Given the description of an element on the screen output the (x, y) to click on. 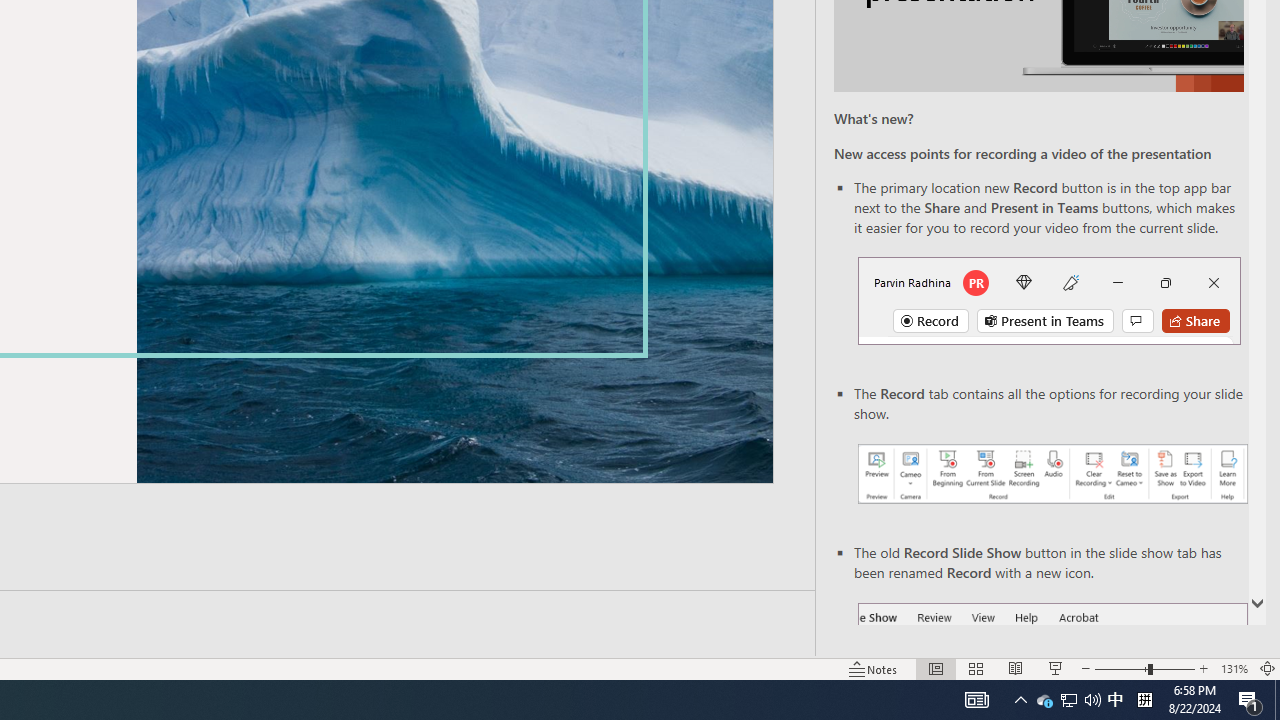
Record button in top bar (1049, 300)
Record your presentations screenshot one (1052, 473)
Zoom 131% (1234, 668)
